Given the description of an element on the screen output the (x, y) to click on. 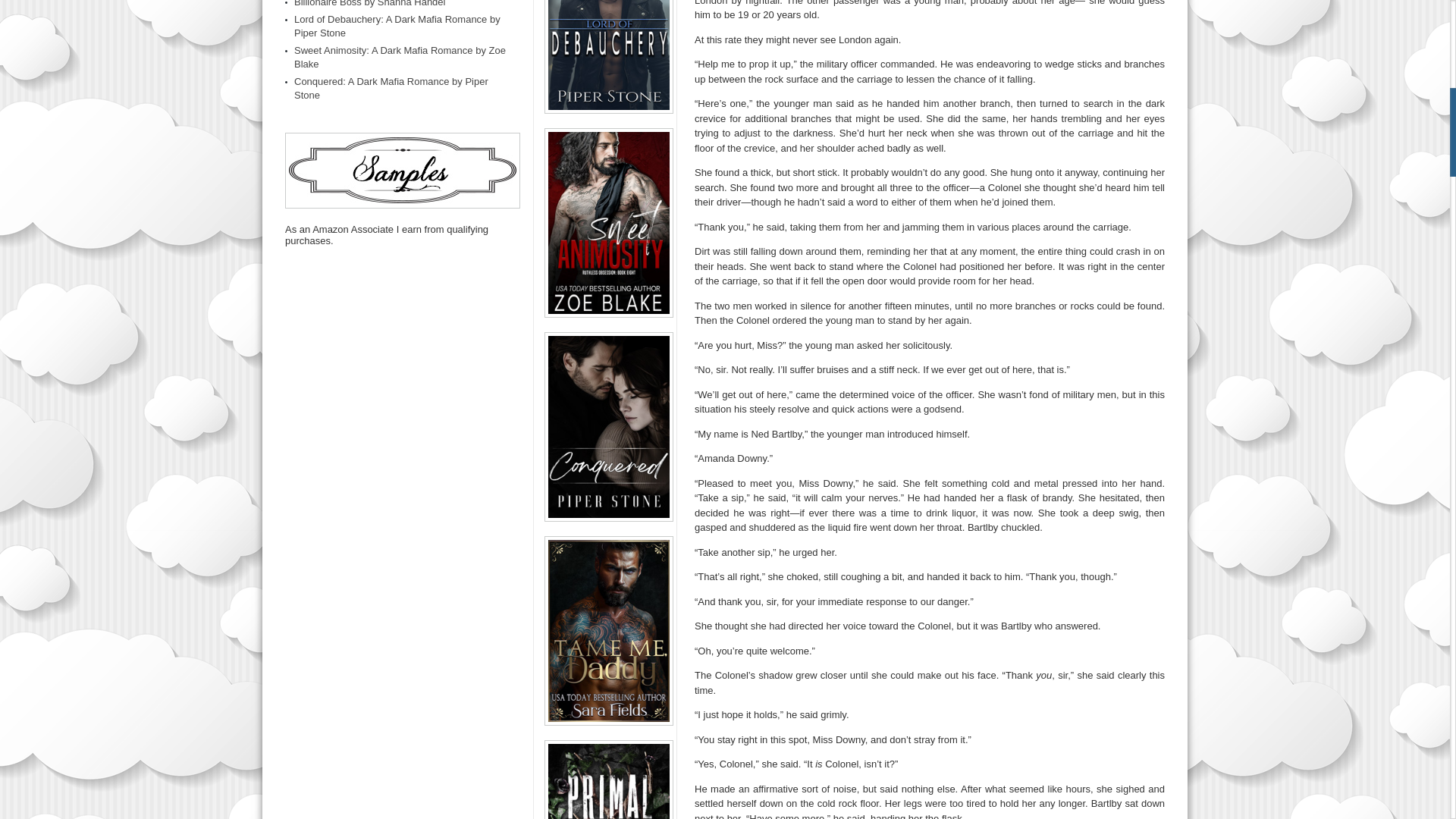
Scroll To Top (1427, 60)
